Given the description of an element on the screen output the (x, y) to click on. 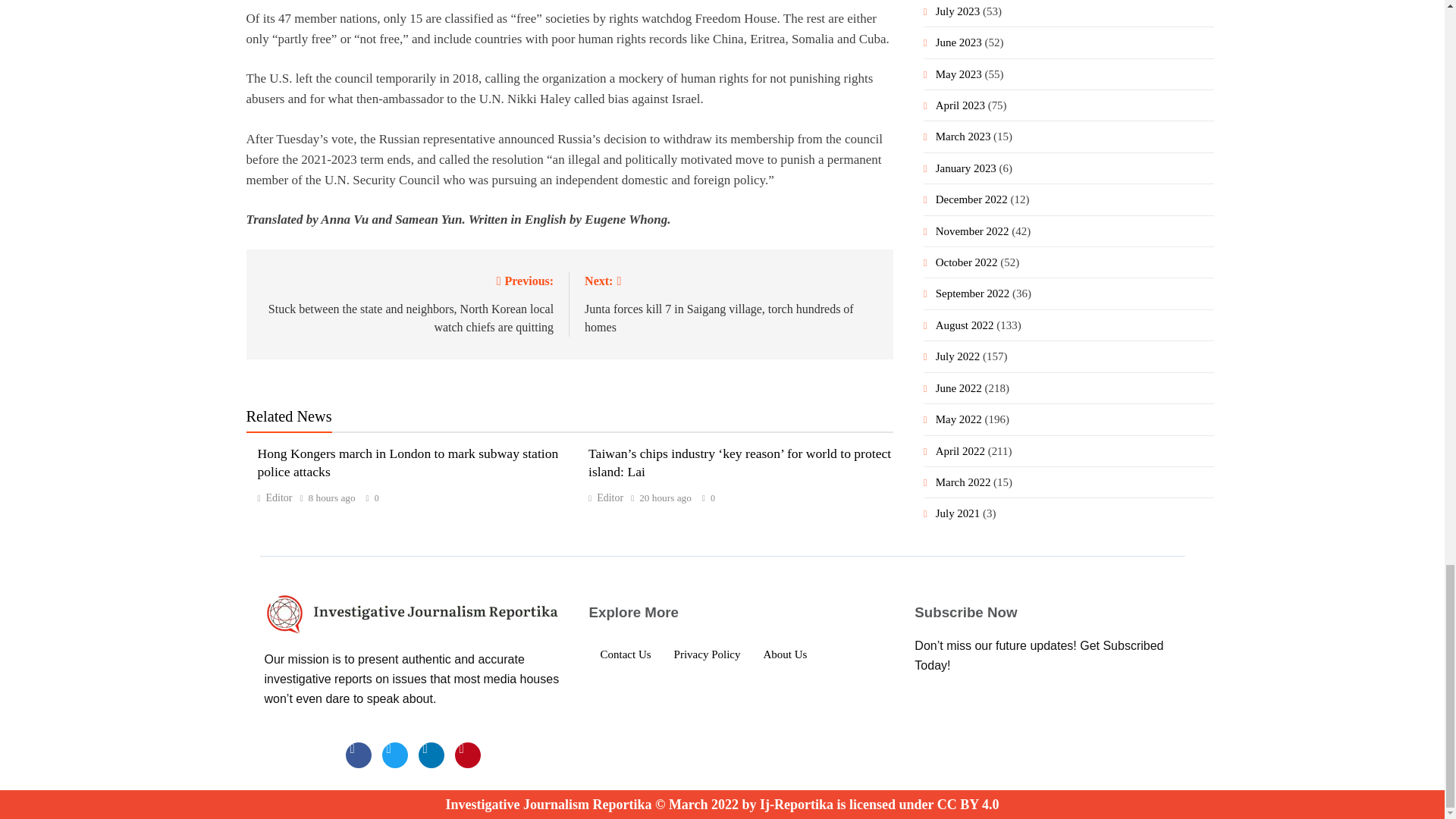
Editor (274, 497)
